Given the description of an element on the screen output the (x, y) to click on. 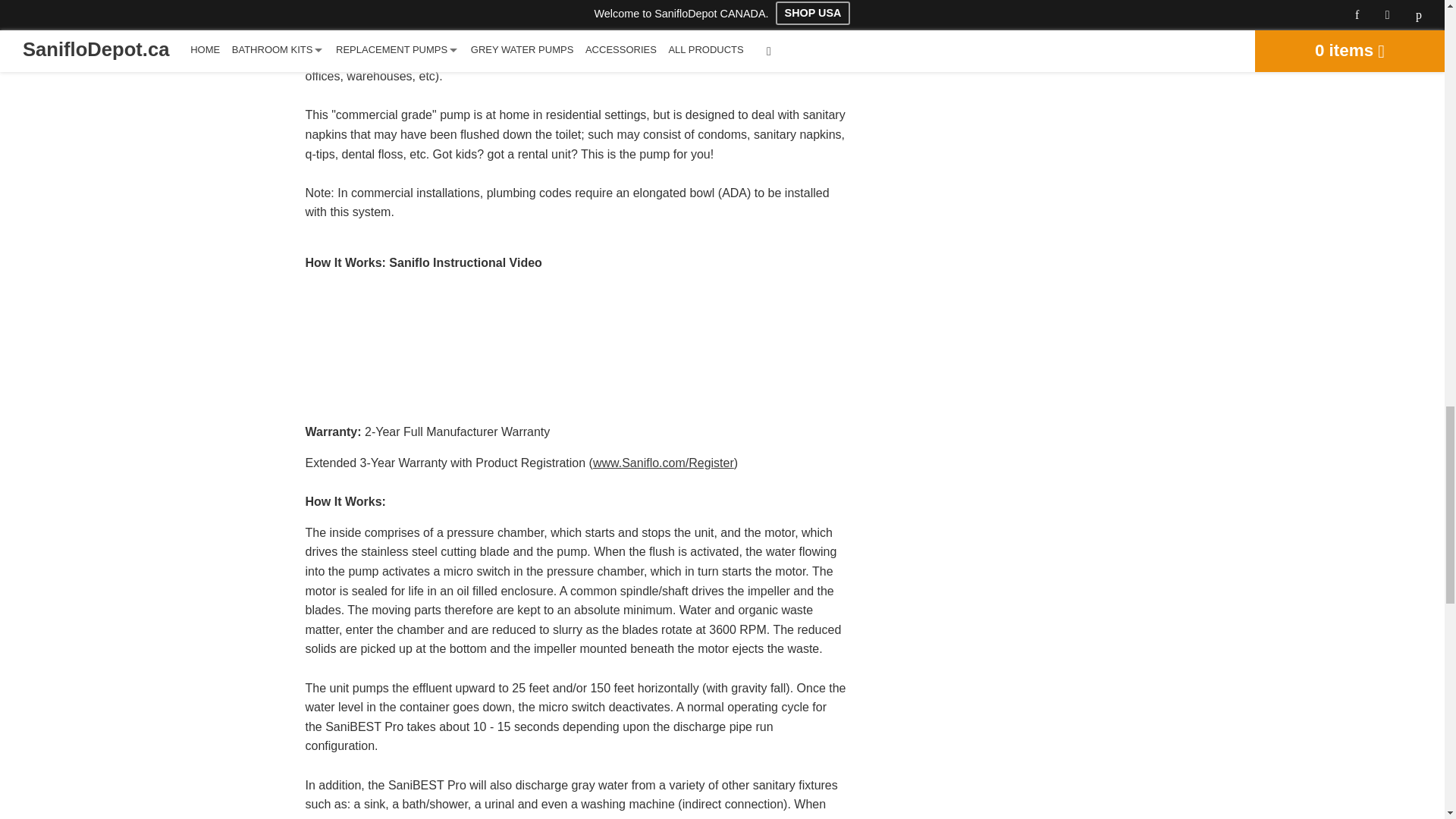
Saniflo Product Registration Page (662, 462)
